Given the description of an element on the screen output the (x, y) to click on. 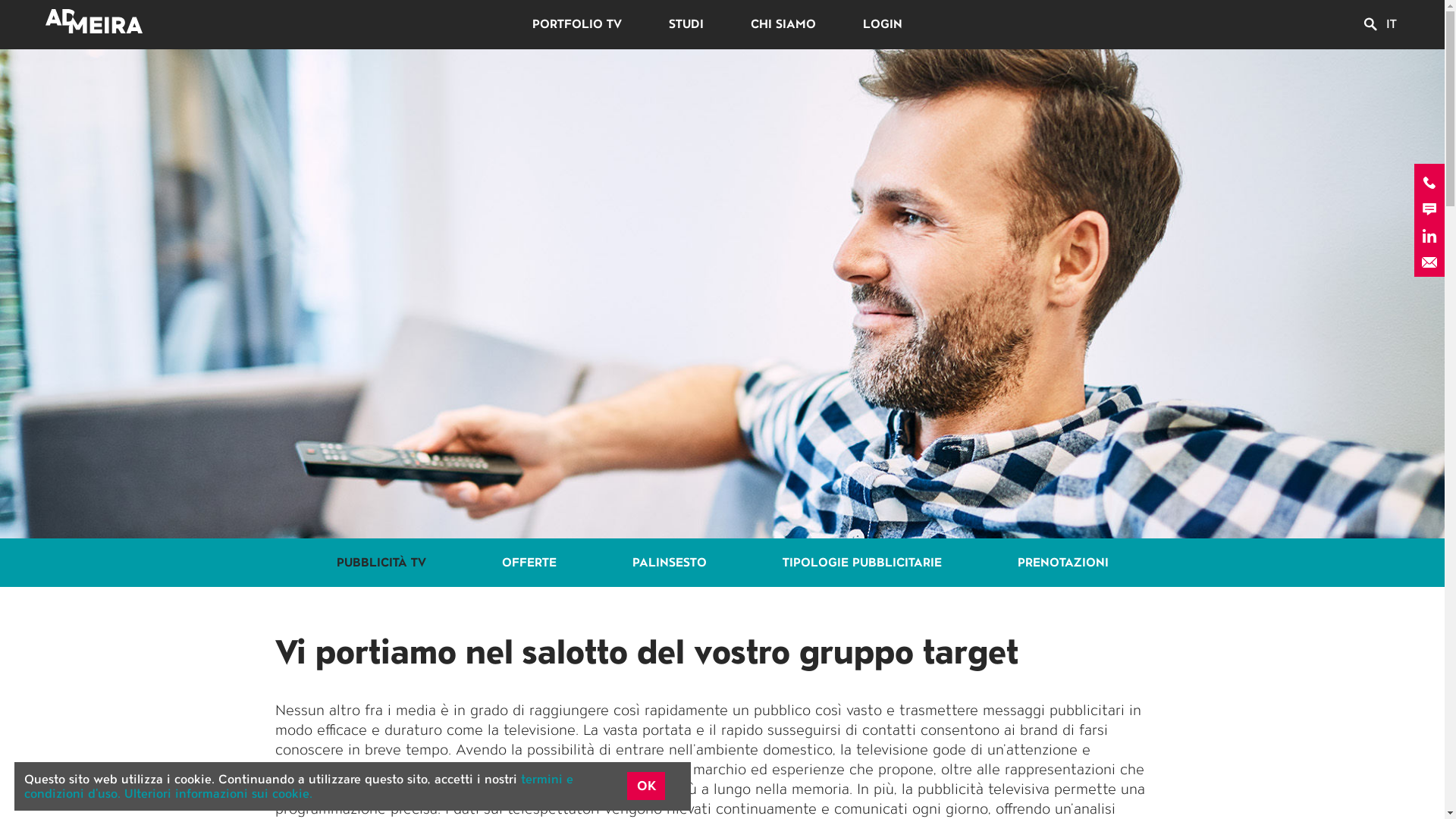
STUDI Element type: text (686, 24)
termini e condizioni d'uso. Element type: text (298, 785)
OFFERTE Element type: text (528, 562)
PORTFOLIO TV Element type: text (576, 24)
PRENOTAZIONI Element type: text (1062, 562)
_KONTAKT_ Element type: hover (1429, 208)
Ulteriori informazioni sui cookie. Element type: text (218, 793)
CHI SIAMO Element type: text (783, 24)
TIPOLOGIE PUBBLICITARIE Element type: text (861, 562)
PALINSESTO Element type: text (668, 562)
LOGIN Element type: text (882, 24)
Cerca Element type: text (1369, 24)
